Given the description of an element on the screen output the (x, y) to click on. 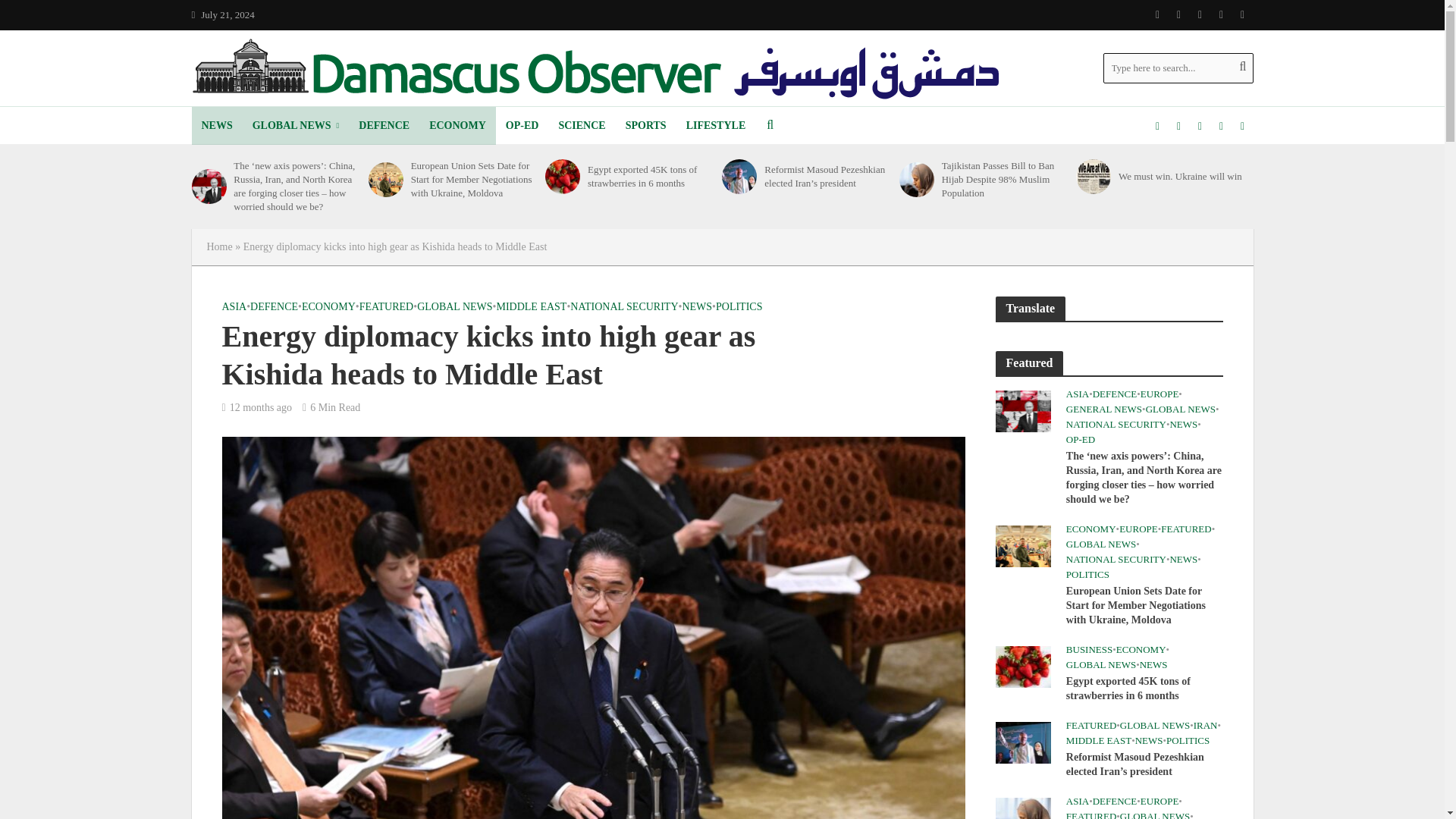
Egypt exported 45K tons of strawberries in 6 months (1021, 665)
NEWS (215, 125)
We must win. Ukraine will win (1092, 176)
Egypt exported 45K tons of strawberries in 6 months (561, 176)
GLOBAL NEWS (296, 125)
